Given the description of an element on the screen output the (x, y) to click on. 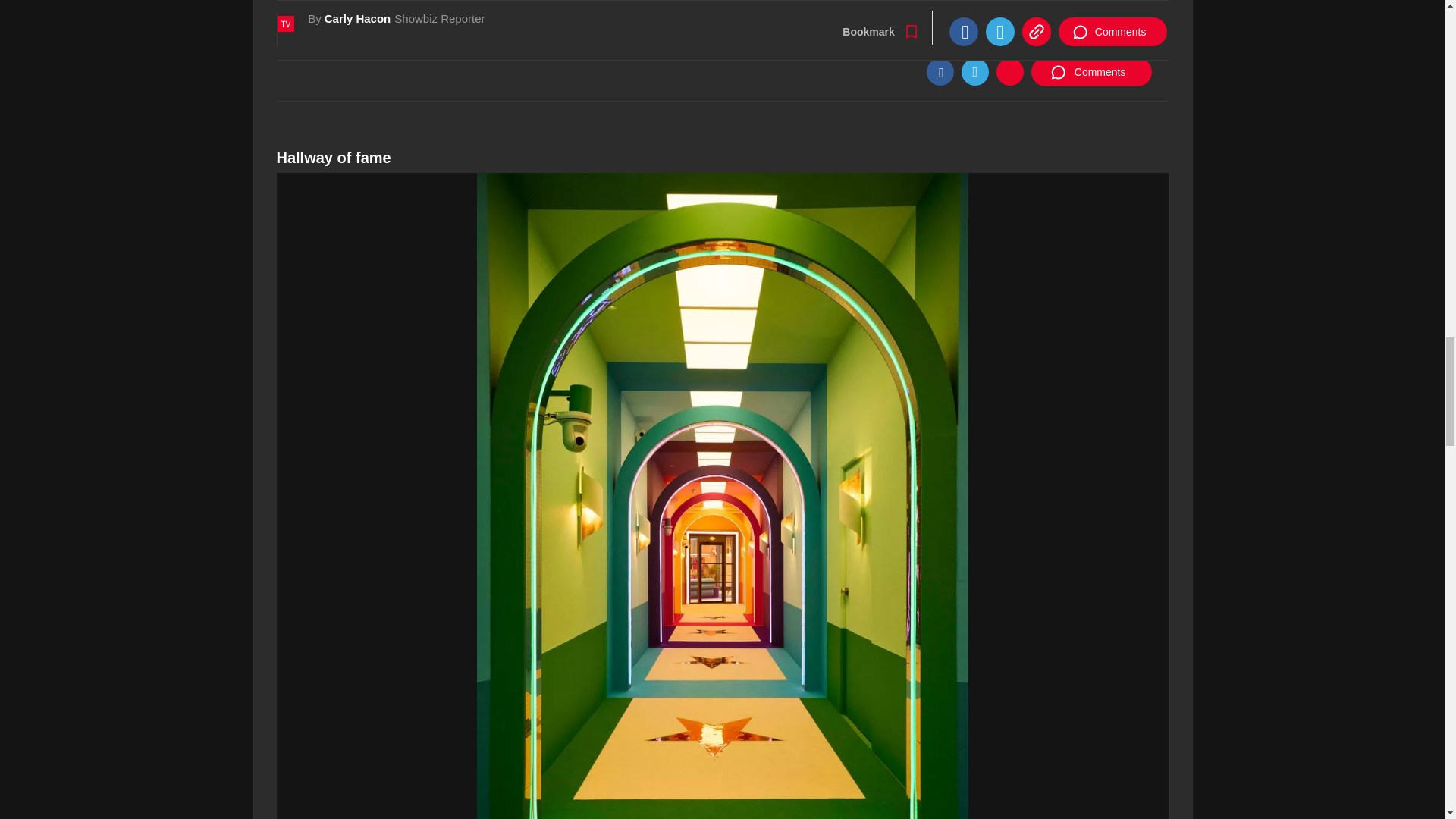
Facebook (939, 71)
Comments (1090, 71)
Twitter (974, 71)
